Given the description of an element on the screen output the (x, y) to click on. 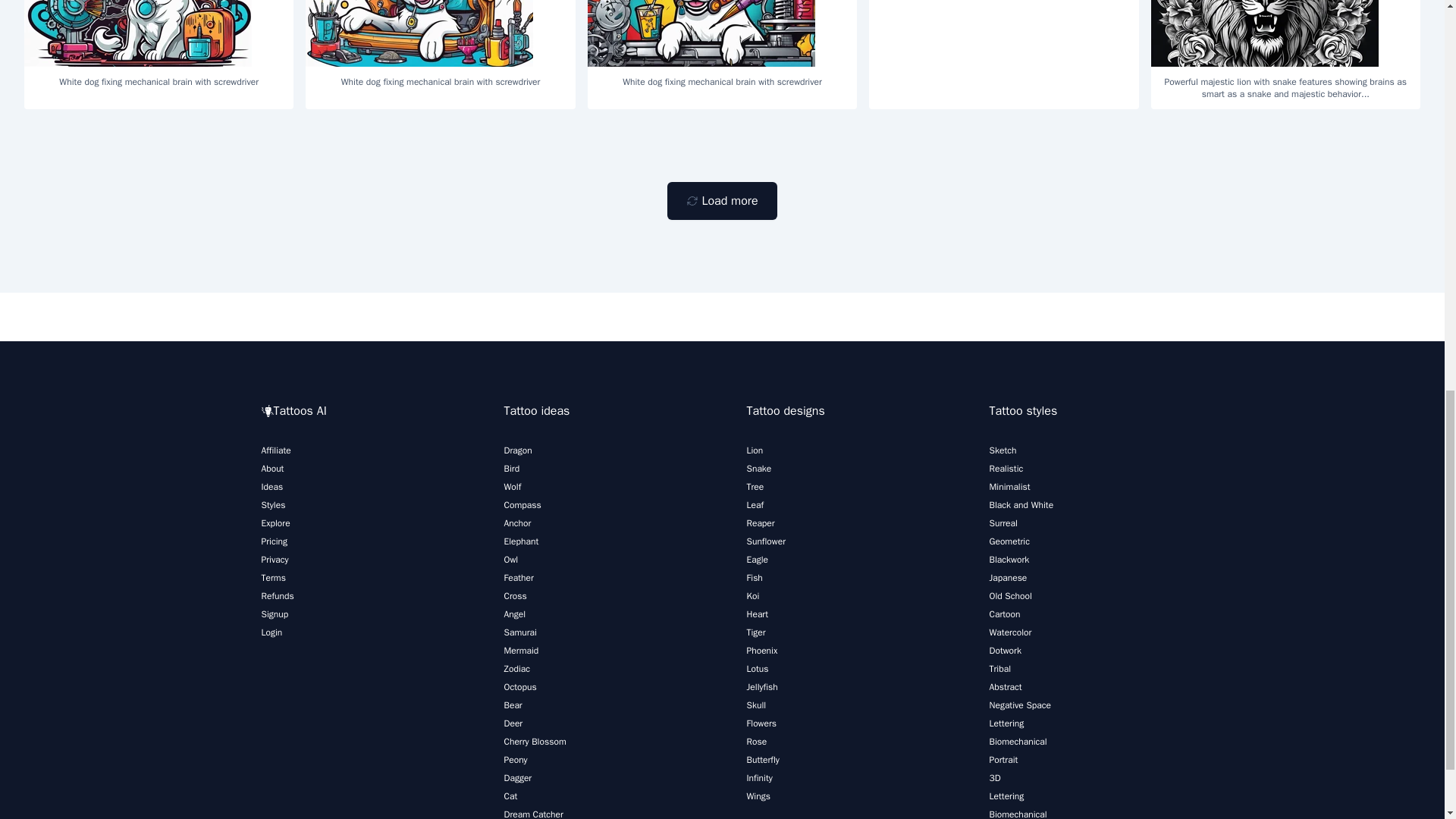
Bird (511, 468)
Wolf (512, 486)
White dog fixing mechanical brain with screwdriver (159, 48)
Styles (272, 504)
Affiliate (274, 450)
Signup (274, 613)
Explore (274, 522)
Pricing (273, 541)
